Given the description of an element on the screen output the (x, y) to click on. 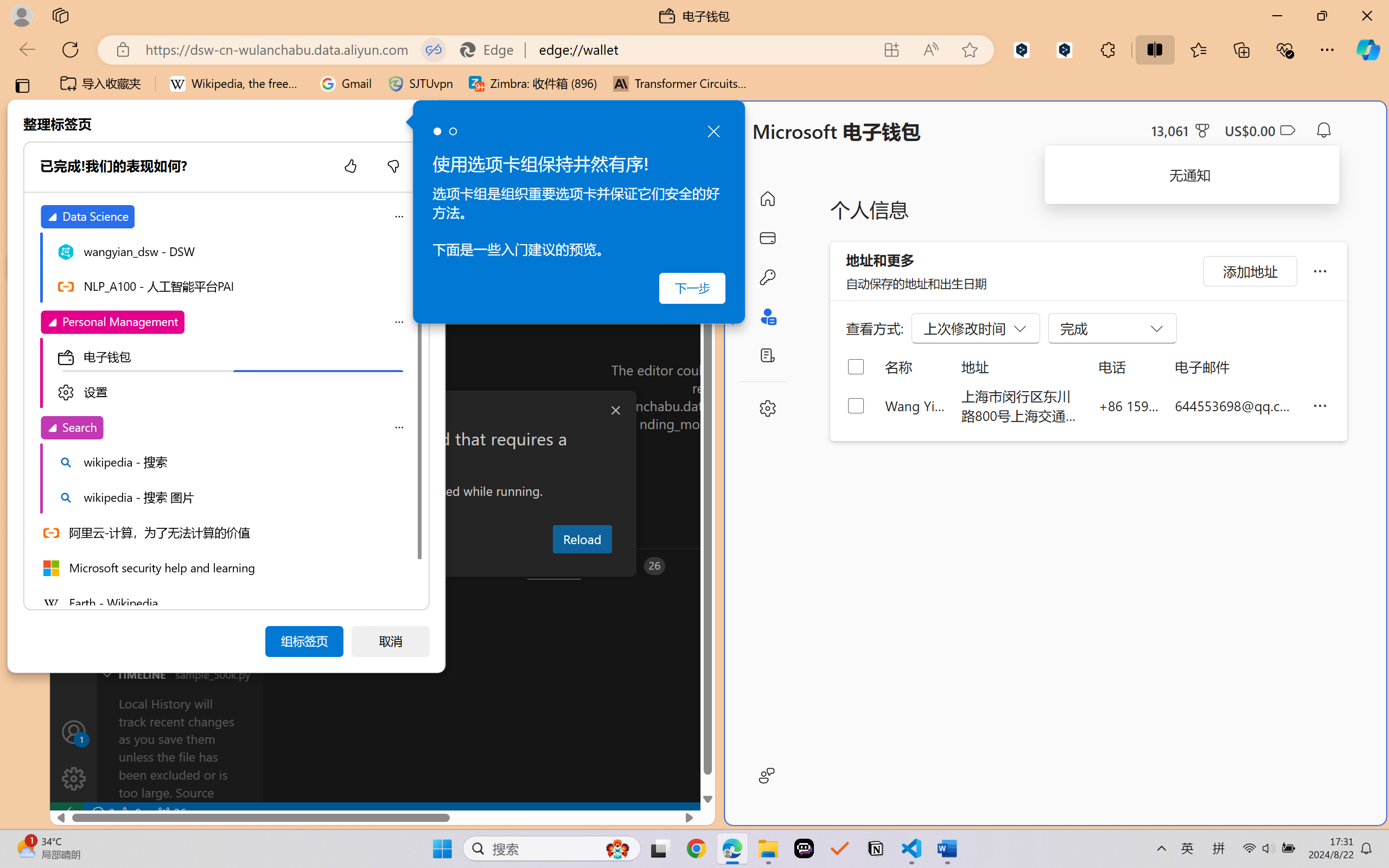
Terminal (Ctrl+`) (553, 565)
